Given the description of an element on the screen output the (x, y) to click on. 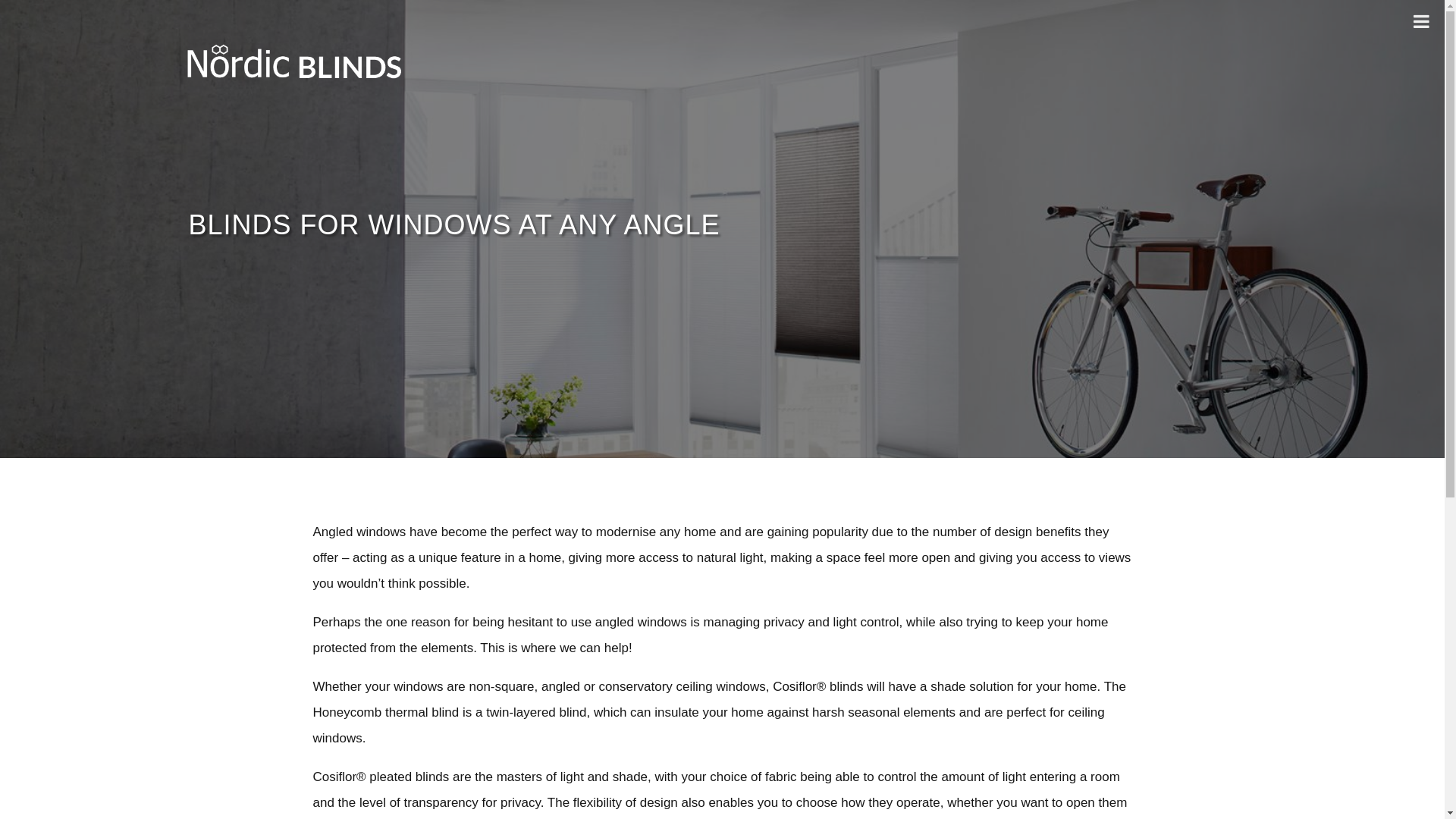
BLINDS FOR WINDOWS AT ANY ANGLE Element type: text (453, 224)
logo2 Element type: hover (293, 62)
